Given the description of an element on the screen output the (x, y) to click on. 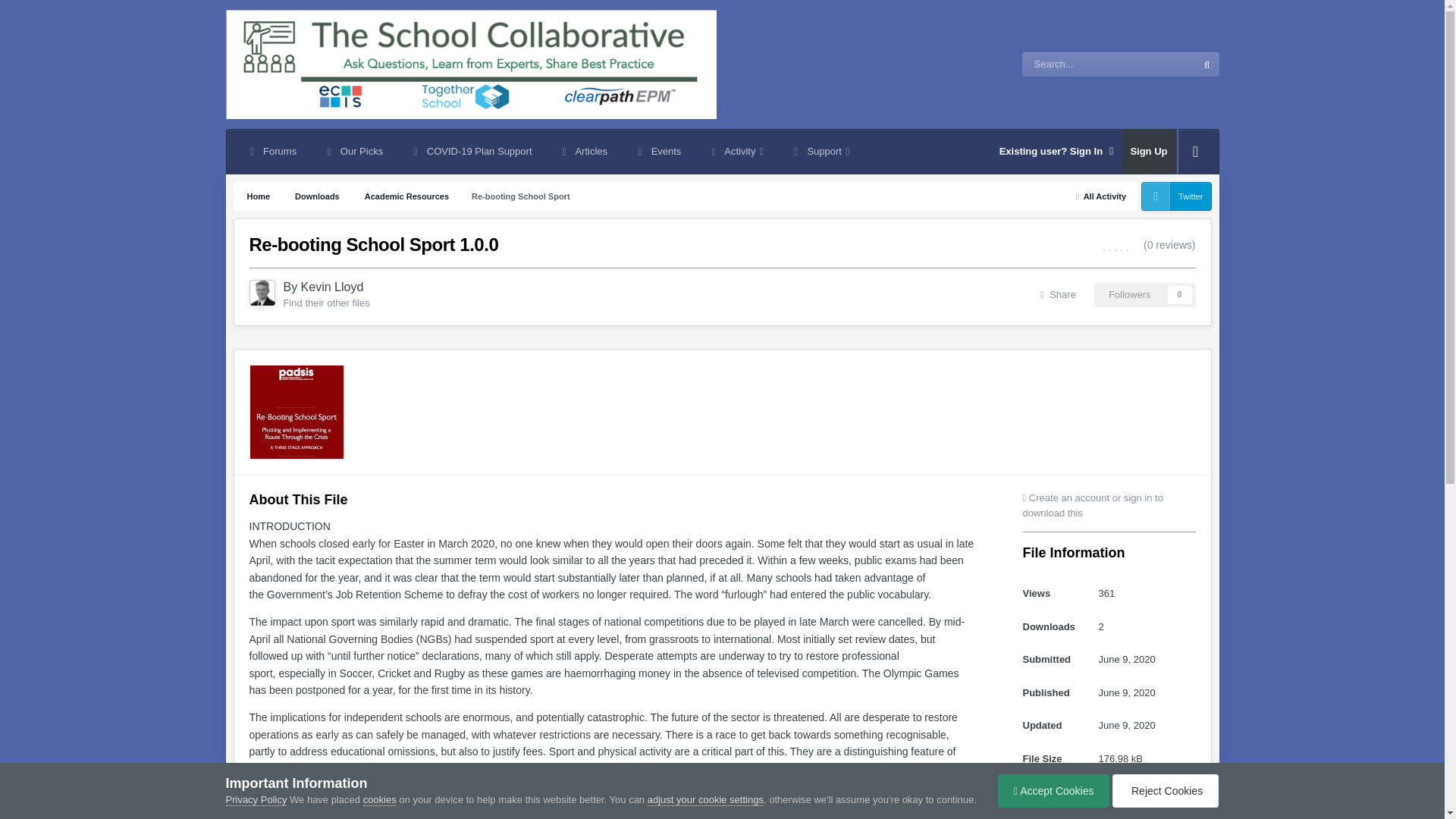
Activity (735, 151)
Our Picks (353, 151)
Articles (583, 151)
Existing user? Sign In   (1056, 151)
Sign Up (1148, 151)
Forums (271, 151)
All Activity (1100, 195)
Home (257, 195)
Academic Resources (405, 195)
Twitter (1176, 195)
